Given the description of an element on the screen output the (x, y) to click on. 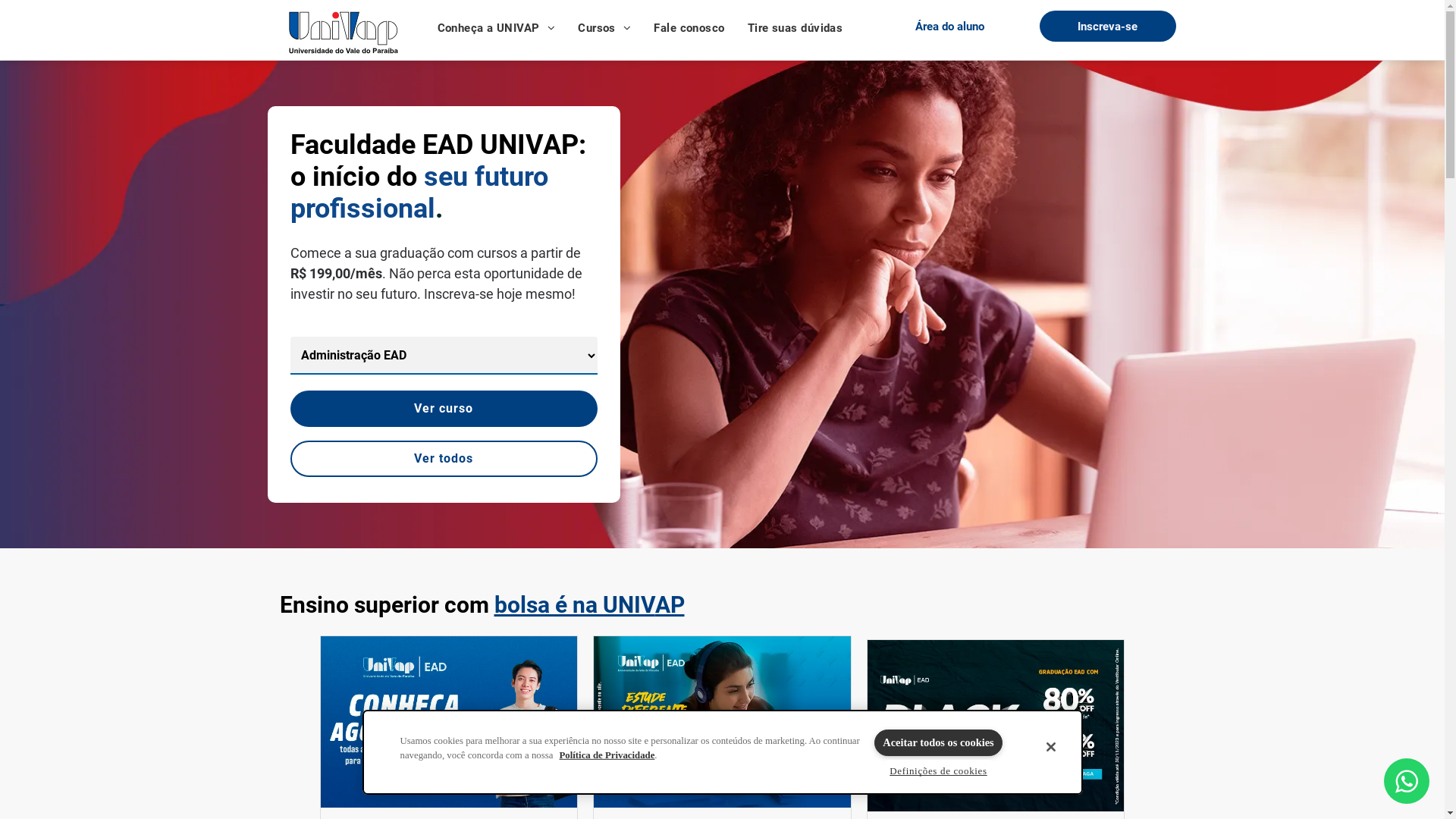
Ver todos Element type: text (442, 458)
Cursos Element type: text (604, 28)
Aceitar todos os cookies Element type: text (937, 742)
Ver curso Element type: text (442, 408)
Inscreva-se Element type: text (1106, 25)
Fale conosco Element type: text (688, 28)
